Given the description of an element on the screen output the (x, y) to click on. 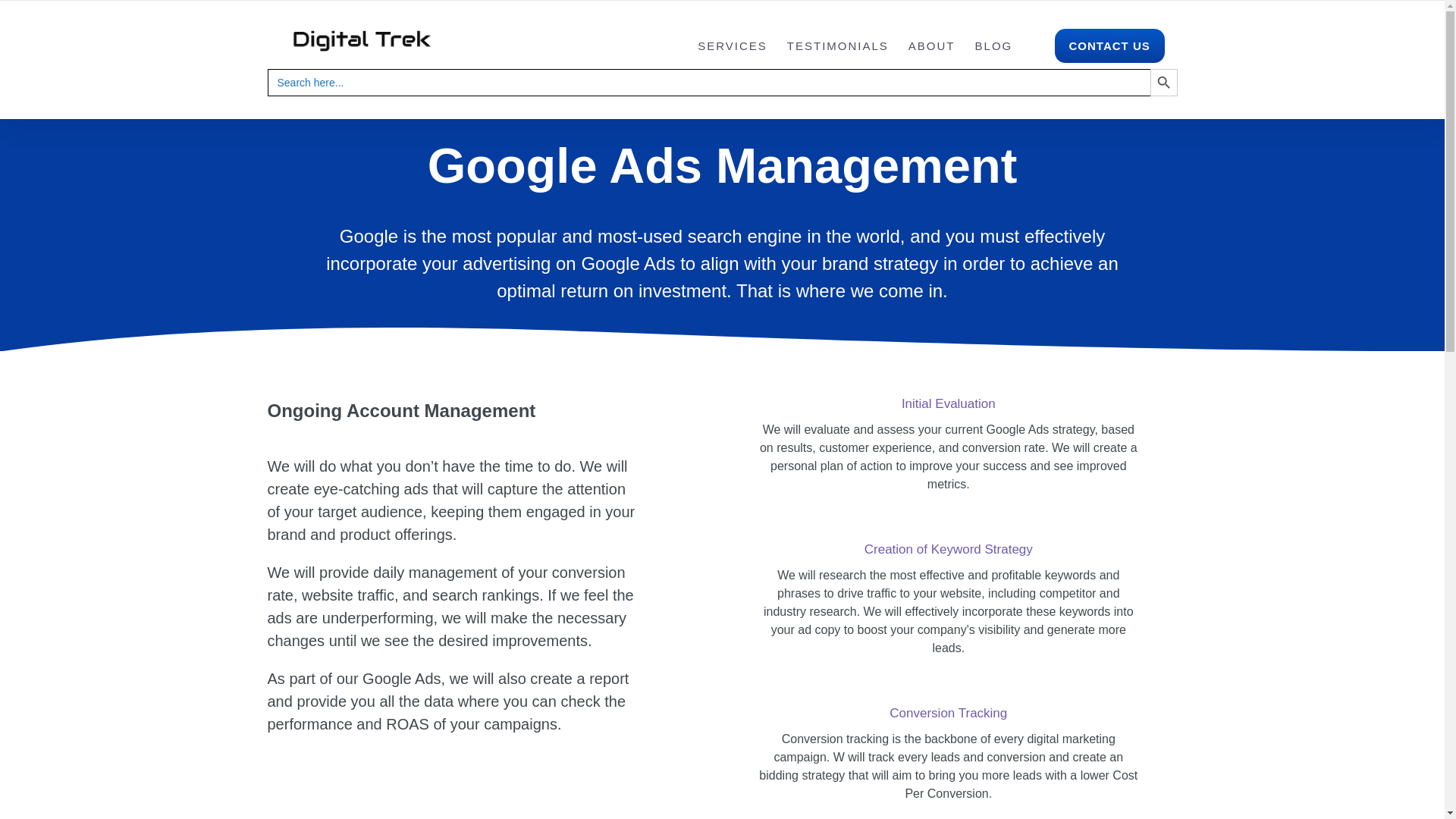
ABOUT (931, 46)
BLOG (994, 46)
CONTACT US (1109, 45)
TESTIMONIALS (837, 46)
Search Button (1163, 82)
SERVICES (732, 46)
